Given the description of an element on the screen output the (x, y) to click on. 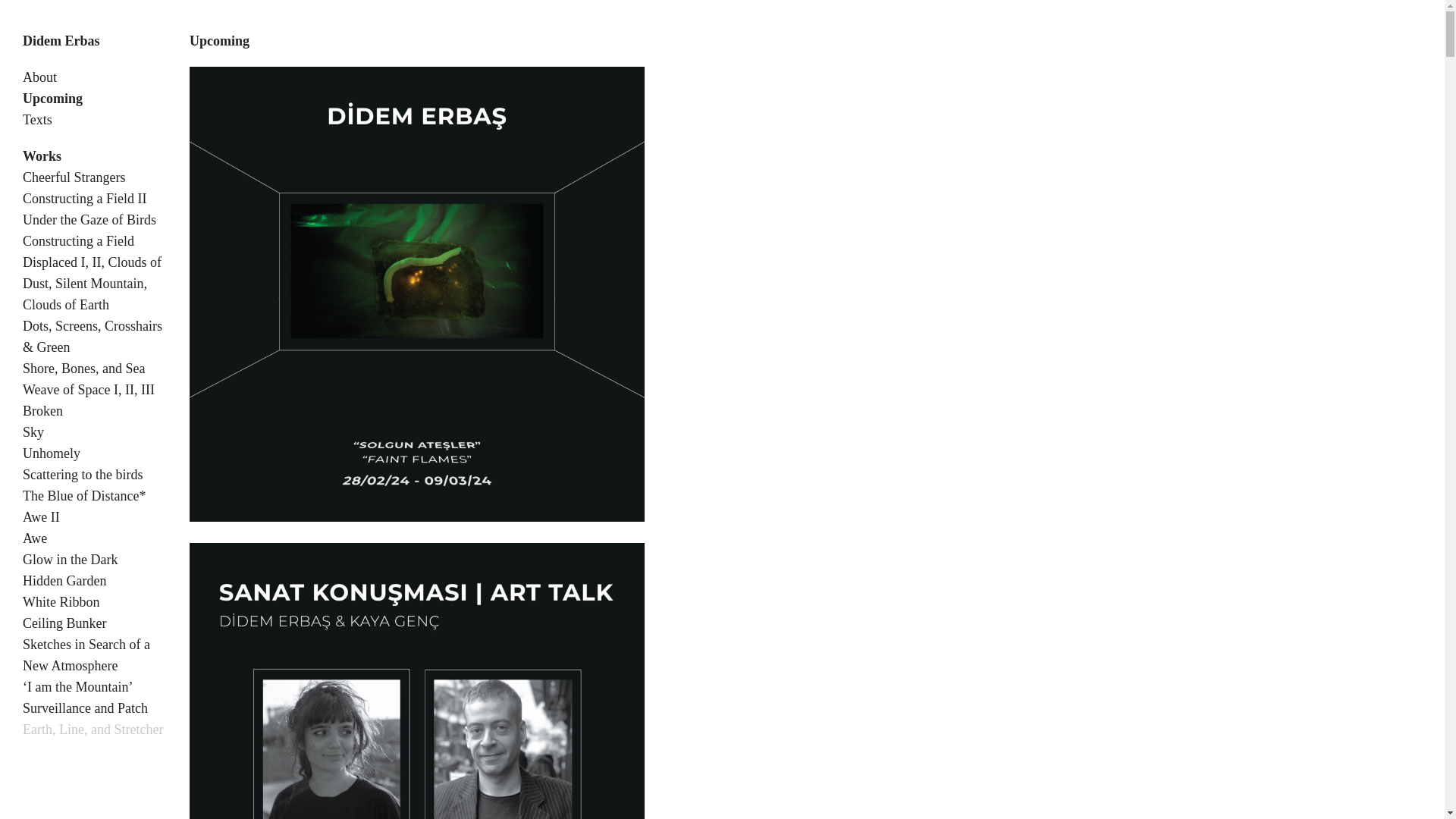
Weave of Space I, II, III (88, 389)
Hidden Garden (64, 580)
Glow in the Dark (70, 559)
White Ribbon (61, 601)
Awe II (41, 516)
About (39, 77)
Surveillance and Patch (85, 708)
Didem Erbas (61, 40)
Works (42, 155)
Sky (33, 432)
